Given the description of an element on the screen output the (x, y) to click on. 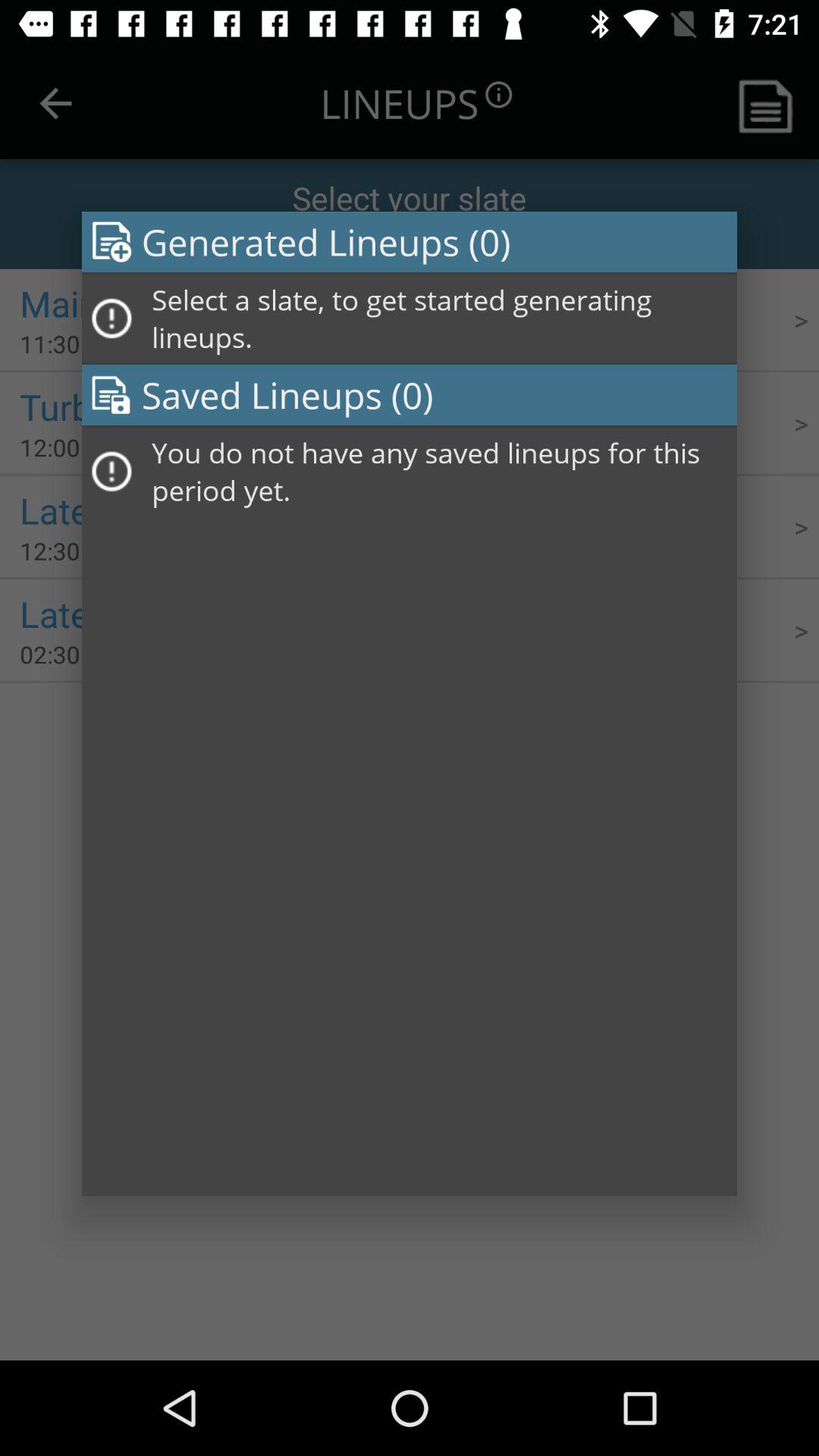
click item above the saved lineups (0) icon (438, 318)
